Given the description of an element on the screen output the (x, y) to click on. 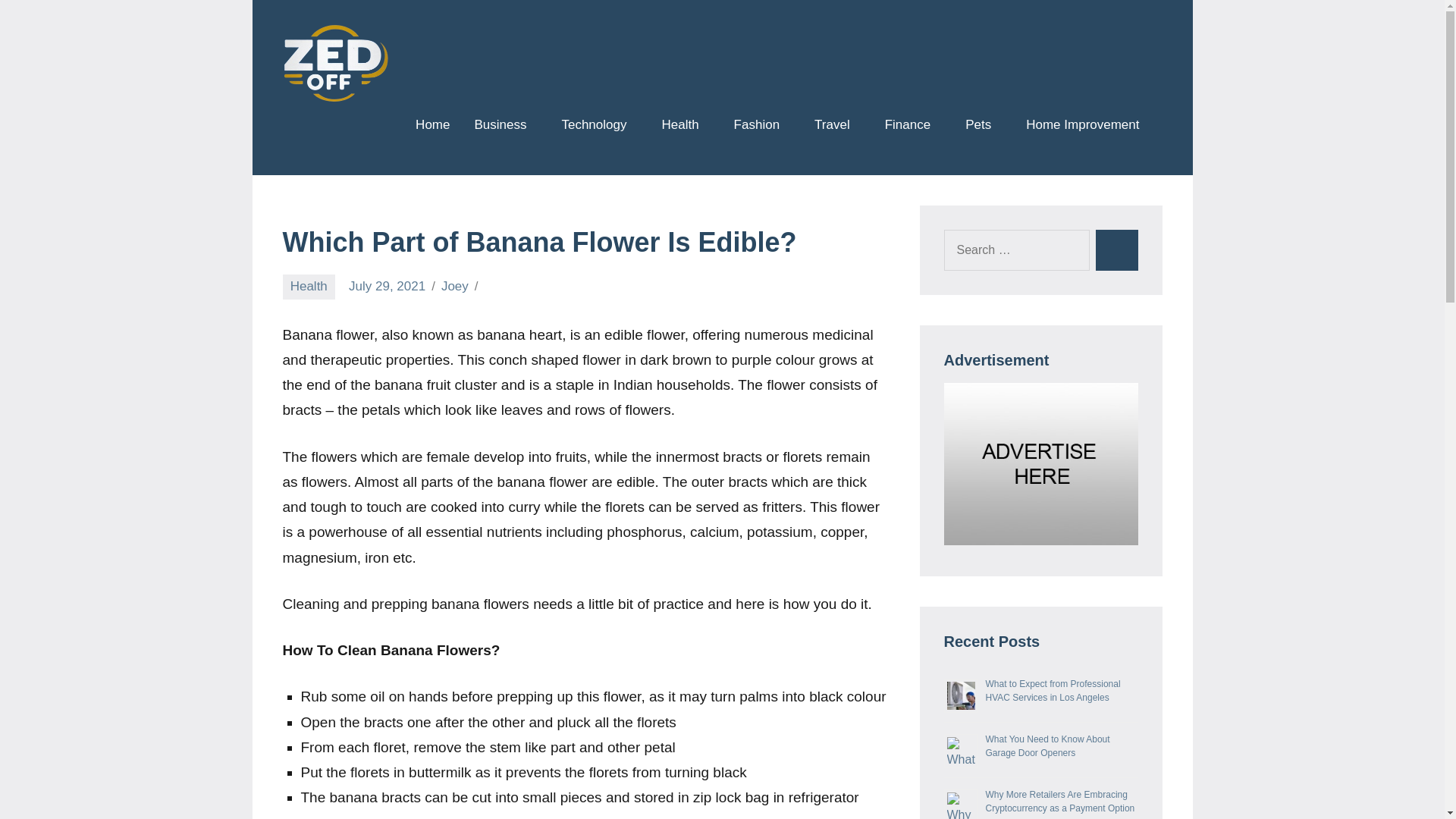
Search for: (1016, 250)
View all posts by Joey (454, 286)
Business (505, 125)
Health (685, 125)
 Banner 300x250 (1040, 463)
Home (431, 125)
Technology (598, 125)
